Given the description of an element on the screen output the (x, y) to click on. 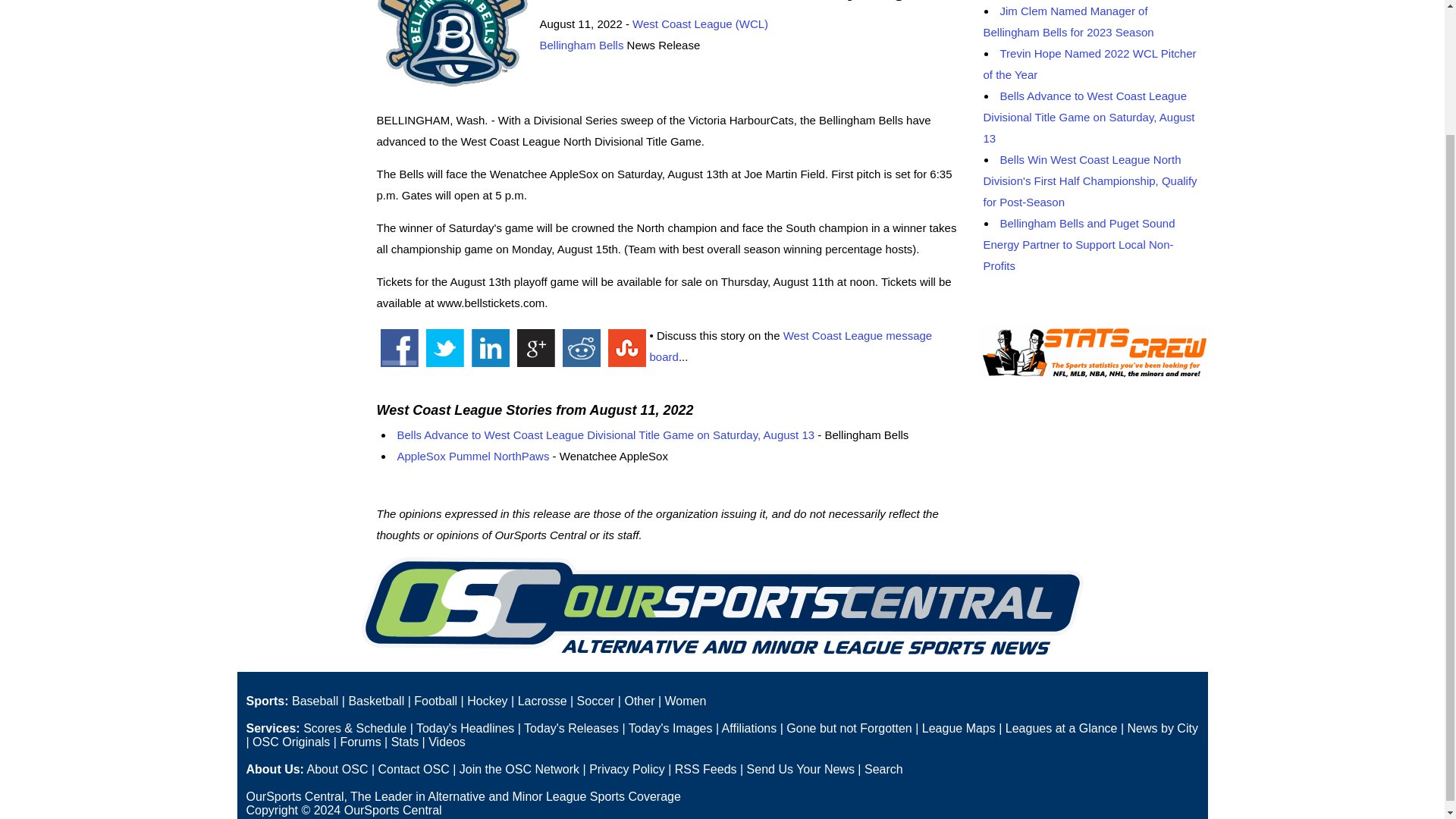
Leagues at a Glance (1062, 727)
OSC Video (446, 741)
Gone but not Forgotten (848, 727)
Forums (359, 741)
Today's Releases (571, 727)
Today's Headlines (464, 727)
Today's Images (670, 727)
League Maps (958, 727)
RSS Feeds (705, 768)
Join the OSC Network (519, 768)
